Given the description of an element on the screen output the (x, y) to click on. 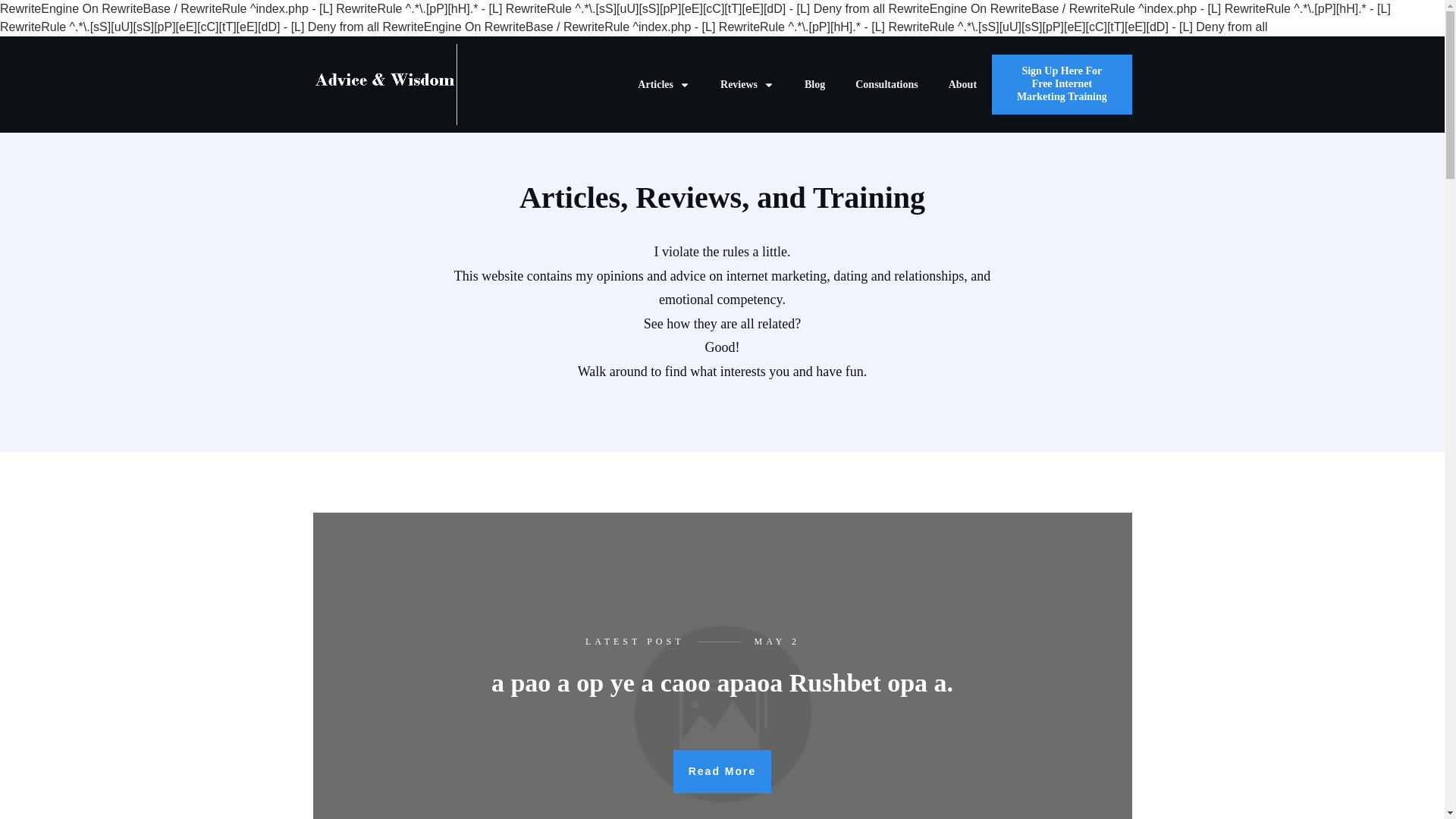
a pao a op ye a caoo apaoa Rushbet opa a. (722, 682)
Sign Up Here For Free Internet Marketing Training (1061, 83)
About (962, 84)
Consultations (886, 84)
Articles (663, 84)
Blog (815, 84)
a pao a op ye a caoo apaoa Rushbet opa a. (722, 682)
Reviews (747, 84)
Read More (721, 771)
